Given the description of an element on the screen output the (x, y) to click on. 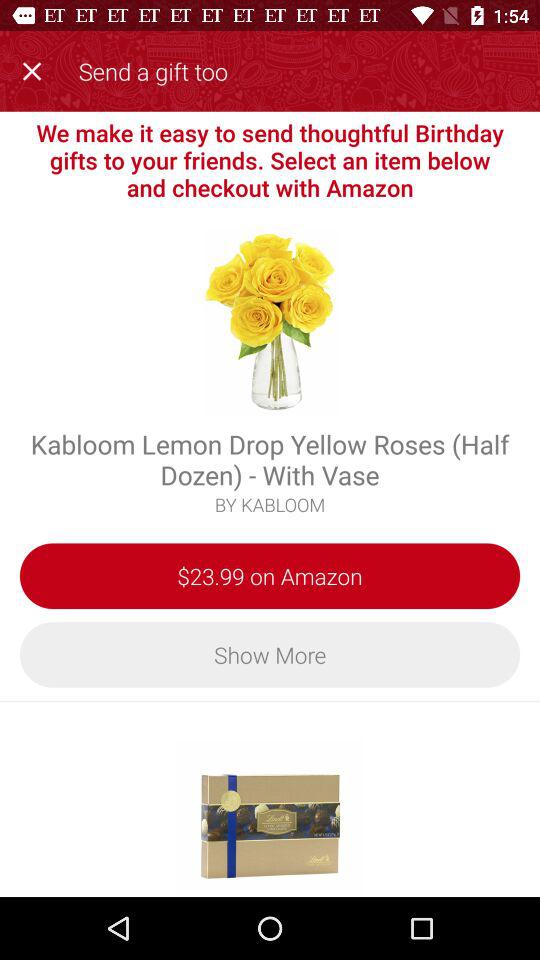
launch item to the left of the send a gift app (36, 68)
